Given the description of an element on the screen output the (x, y) to click on. 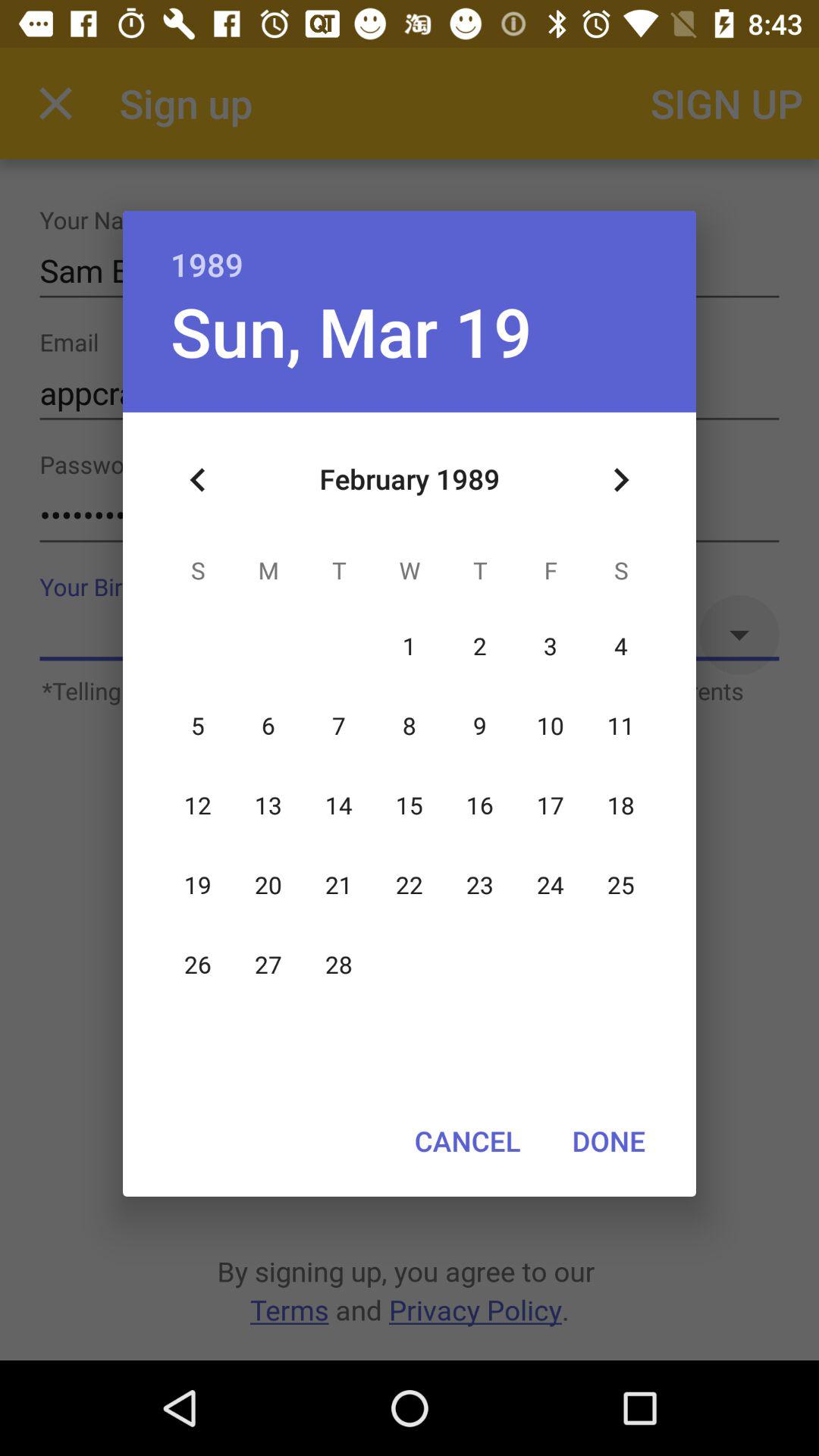
turn on 1989 (409, 248)
